Given the description of an element on the screen output the (x, y) to click on. 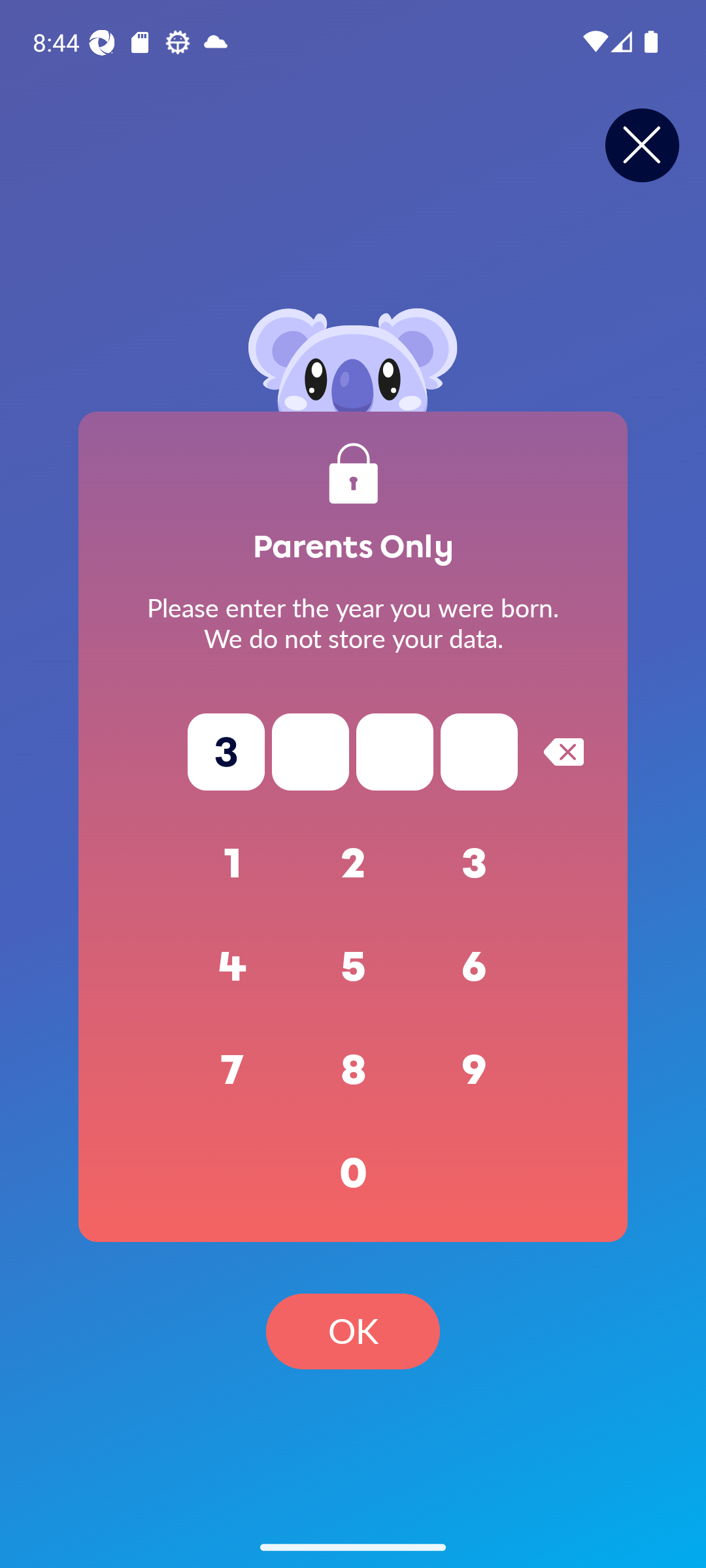
Delete (563, 751)
1 (232, 863)
2 (353, 863)
3 (474, 863)
4 (232, 966)
5 (353, 966)
6 (474, 966)
7 (232, 1069)
8 (353, 1069)
9 (474, 1069)
0 (353, 1173)
OK (352, 1331)
